Given the description of an element on the screen output the (x, y) to click on. 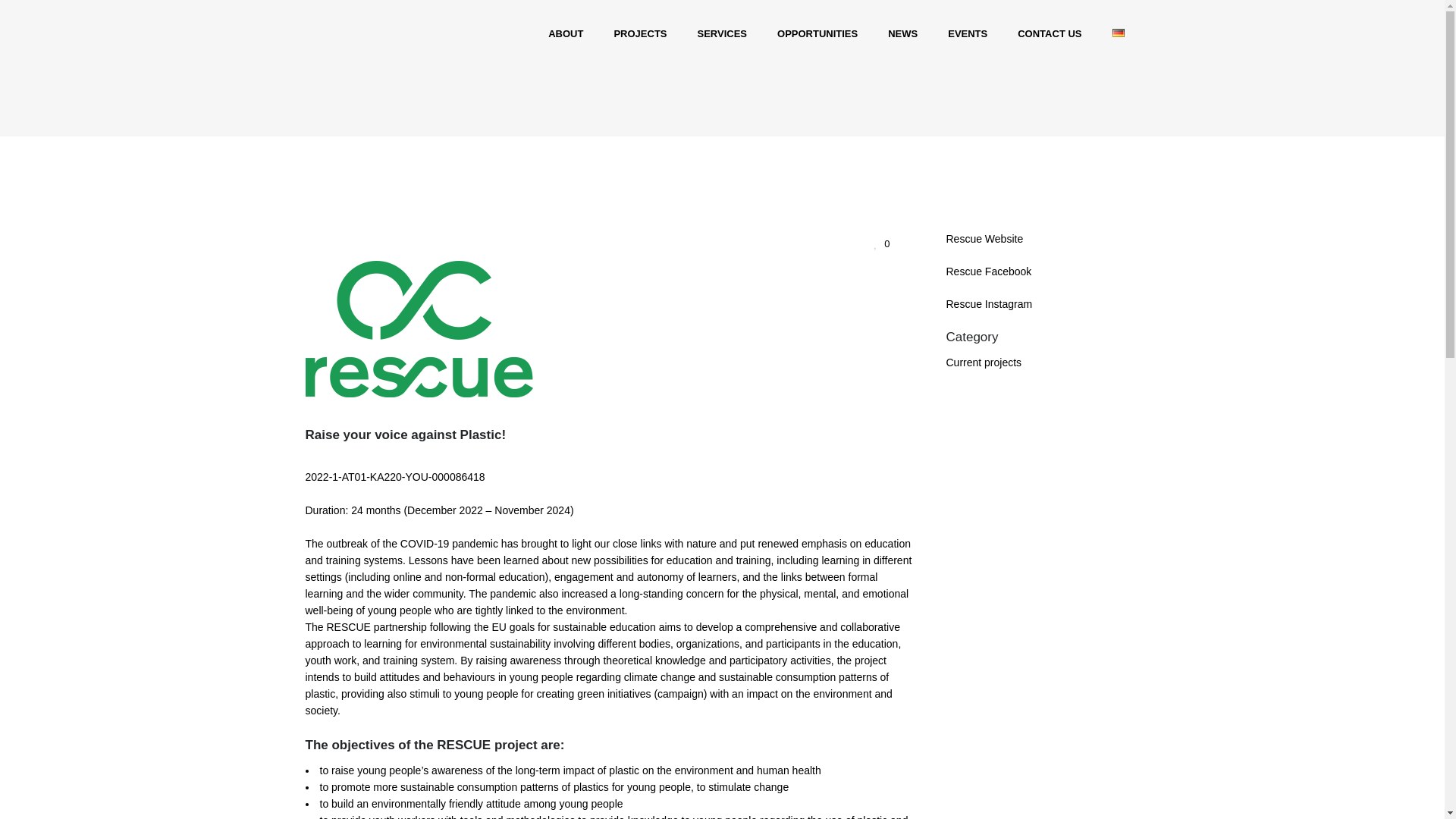
PROJECTS (639, 33)
Like this (881, 242)
OPPORTUNITIES (816, 33)
SERVICES (722, 33)
CONTACT US (1049, 33)
EVENTS (968, 33)
ABOUT (565, 33)
